Given the description of an element on the screen output the (x, y) to click on. 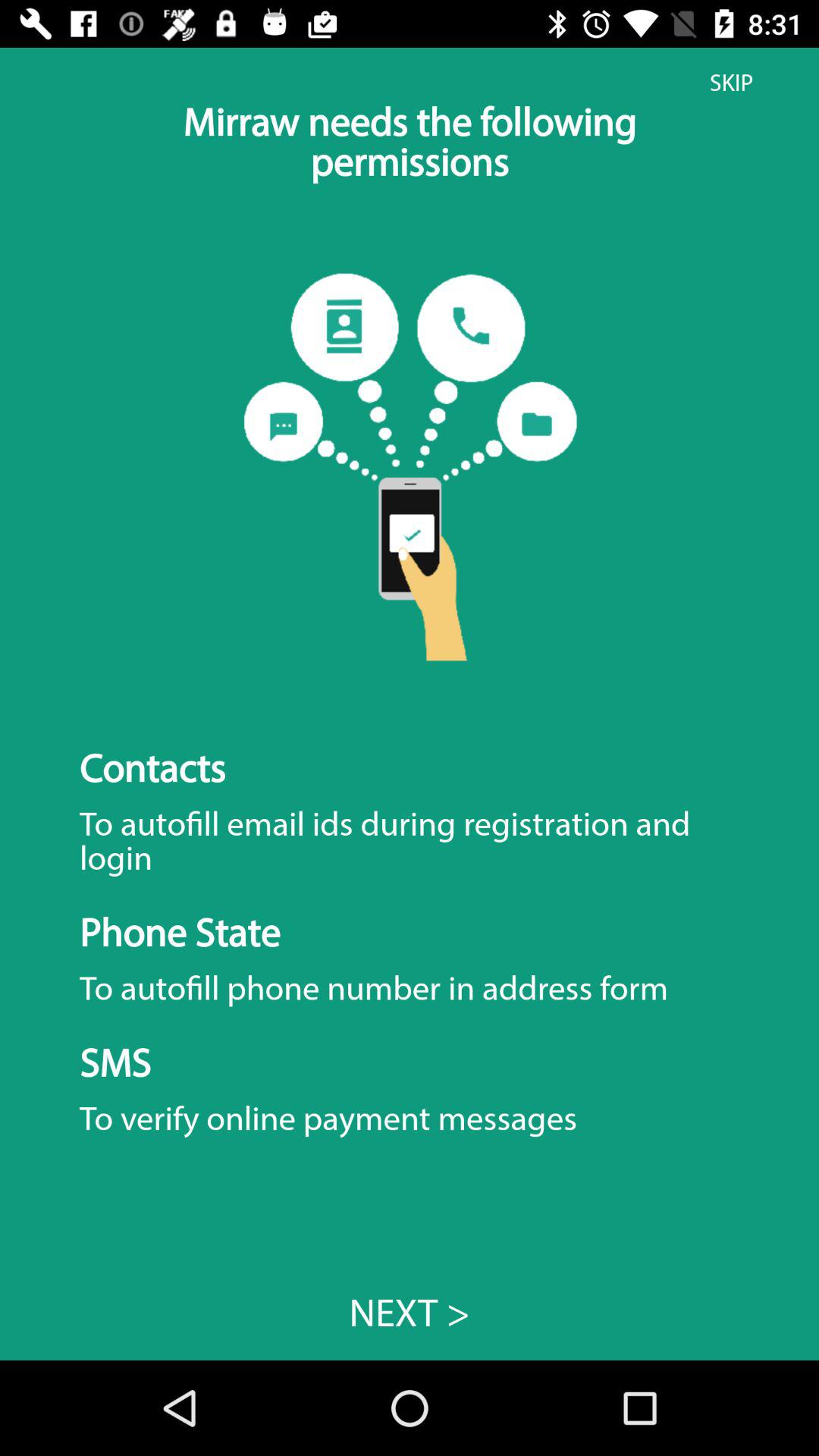
swipe until the next > icon (409, 1312)
